Given the description of an element on the screen output the (x, y) to click on. 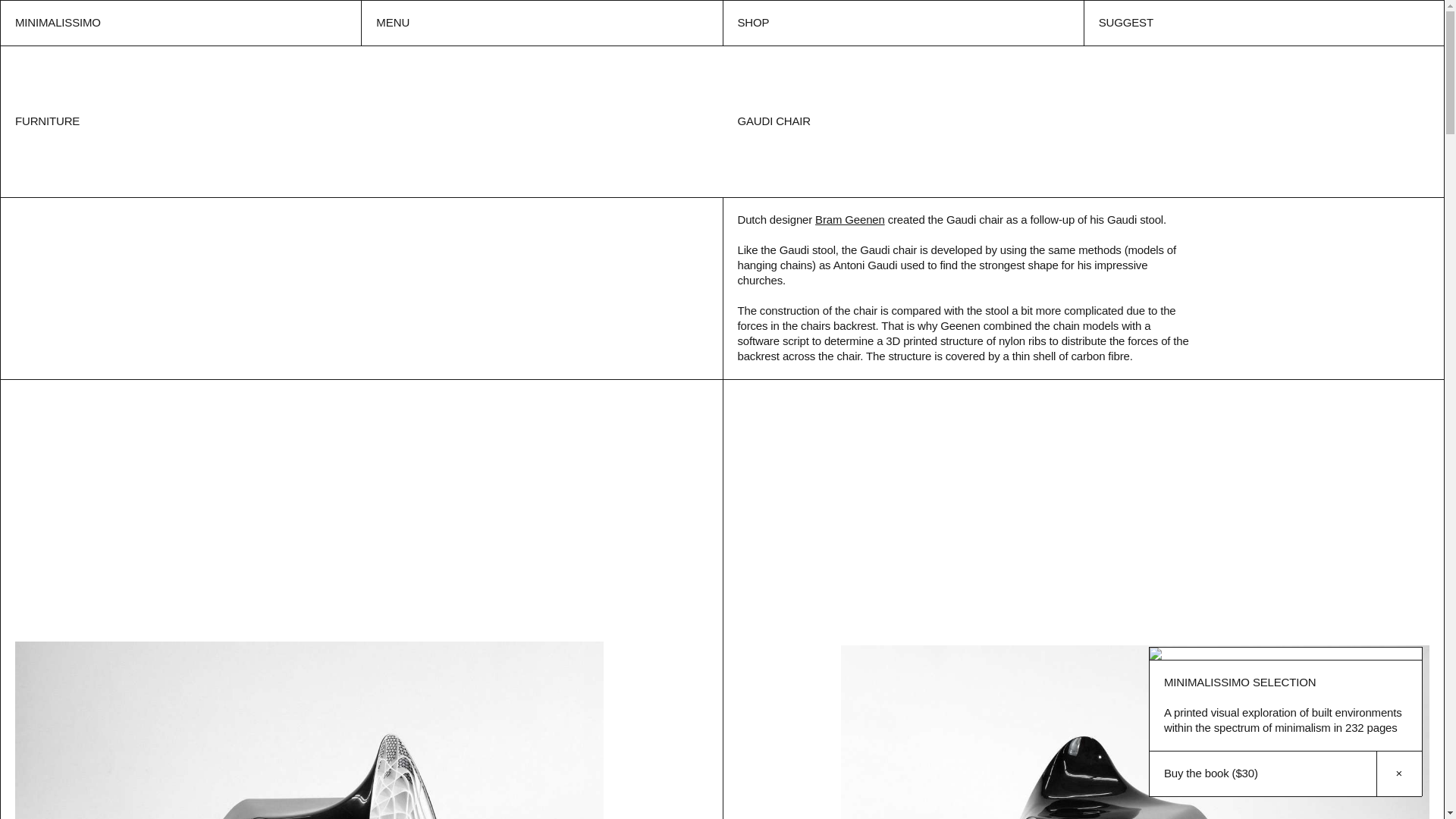
MENU (541, 22)
SHOP (902, 22)
MINIMALISSIMO (180, 22)
FURNITURE (47, 120)
Bram Geenen (850, 219)
Bram Geenen (850, 219)
